Given the description of an element on the screen output the (x, y) to click on. 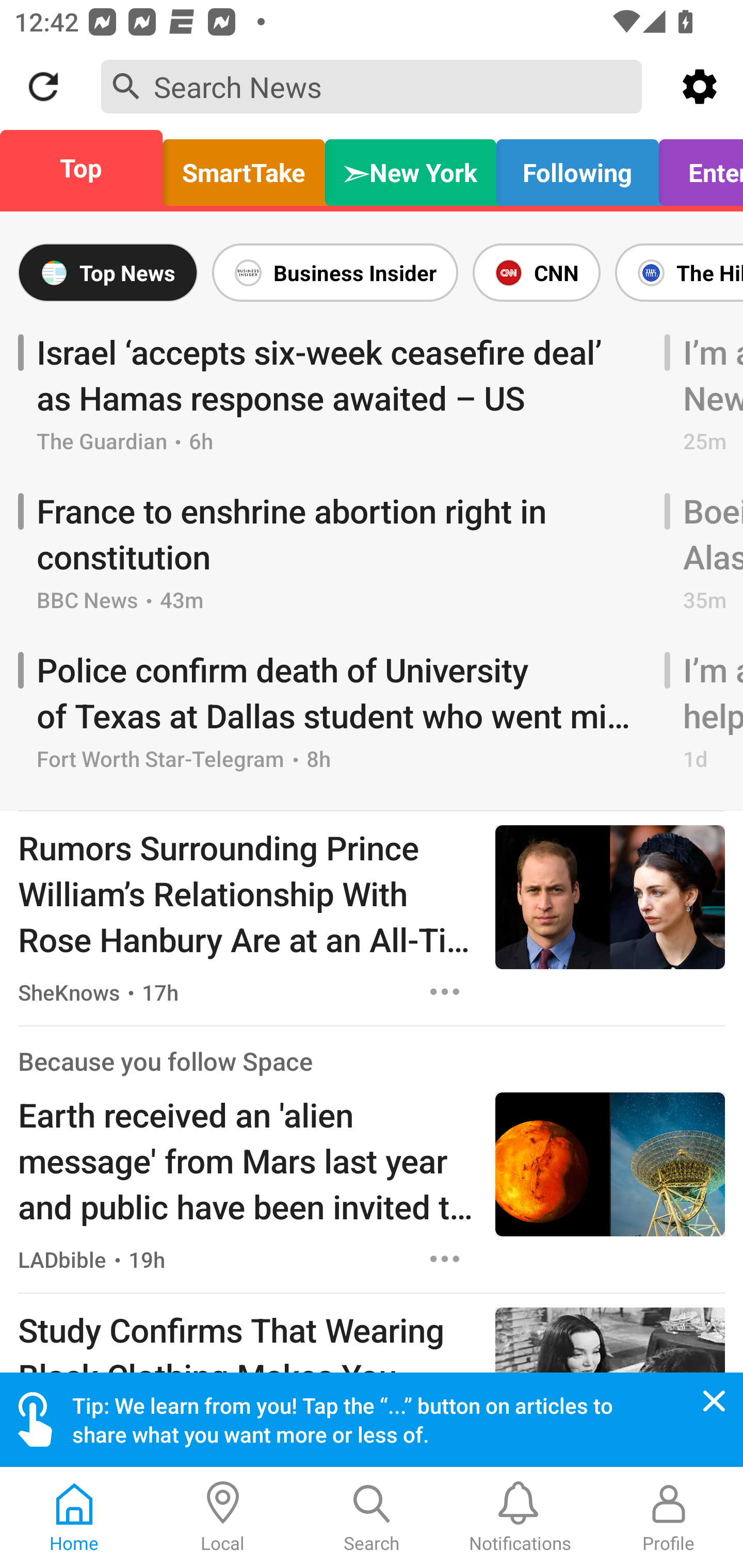
Search News (371, 85)
Top (86, 167)
SmartTake (243, 167)
➣New York (410, 167)
Following (577, 167)
Business Insider (335, 272)
CNN (536, 272)
Options (444, 991)
Because you follow Space (164, 1061)
Options (444, 1259)
Close (714, 1401)
Local (222, 1517)
Search (371, 1517)
Notifications (519, 1517)
Profile (668, 1517)
